Given the description of an element on the screen output the (x, y) to click on. 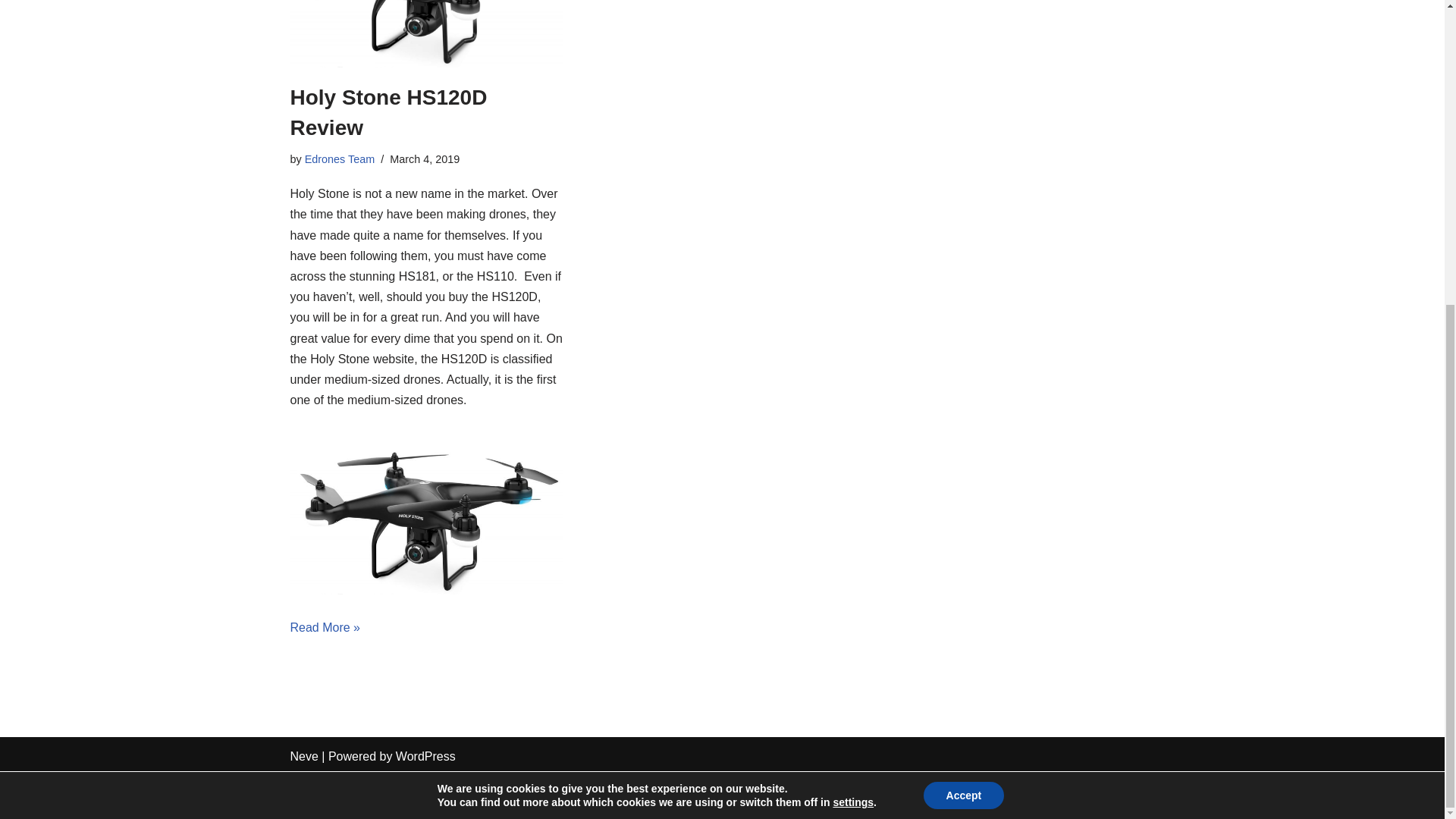
Posts by Edrones Team (339, 159)
Holy Stone HS120D Review (425, 33)
